Given the description of an element on the screen output the (x, y) to click on. 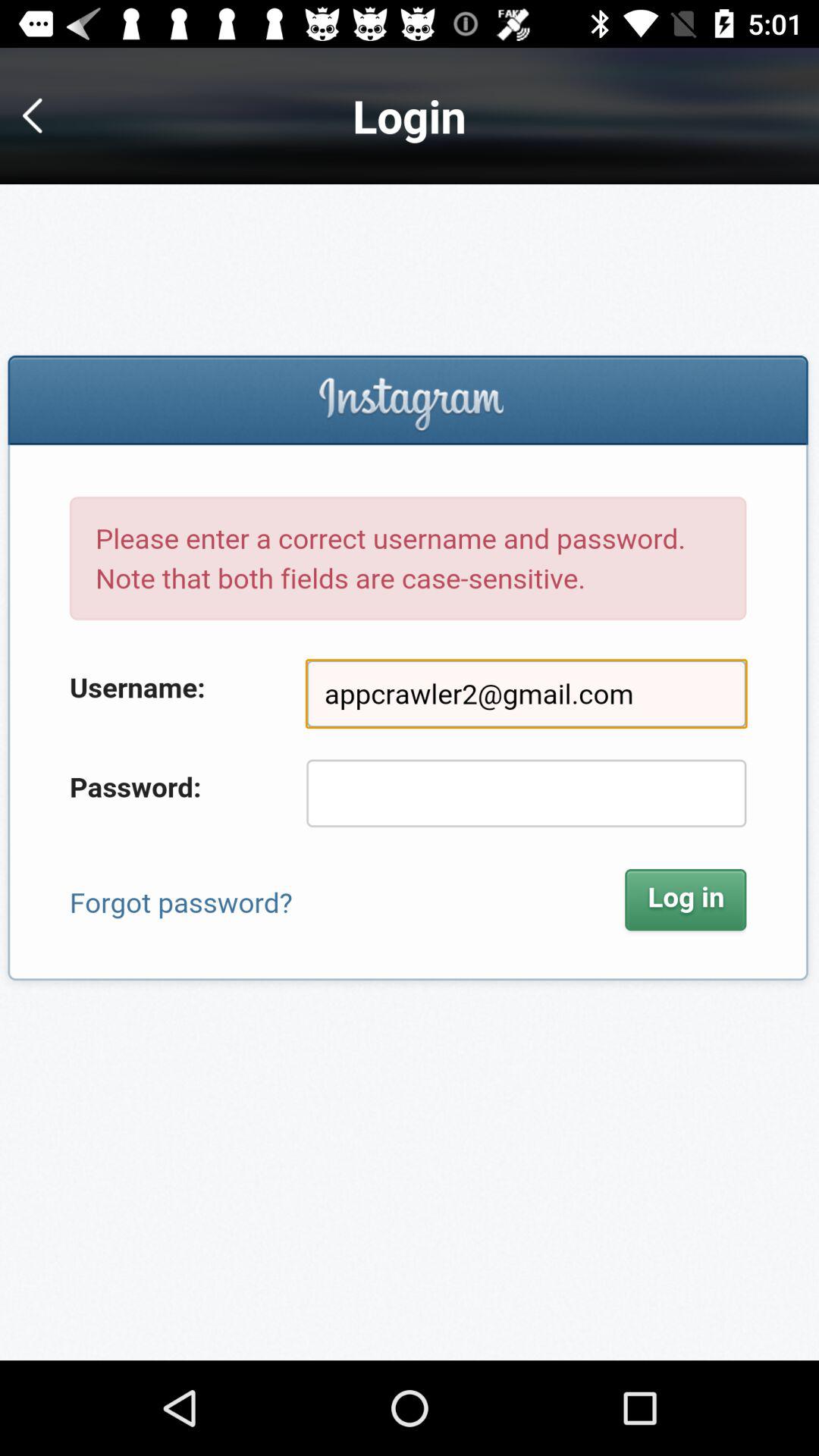
screen page (409, 772)
